Given the description of an element on the screen output the (x, y) to click on. 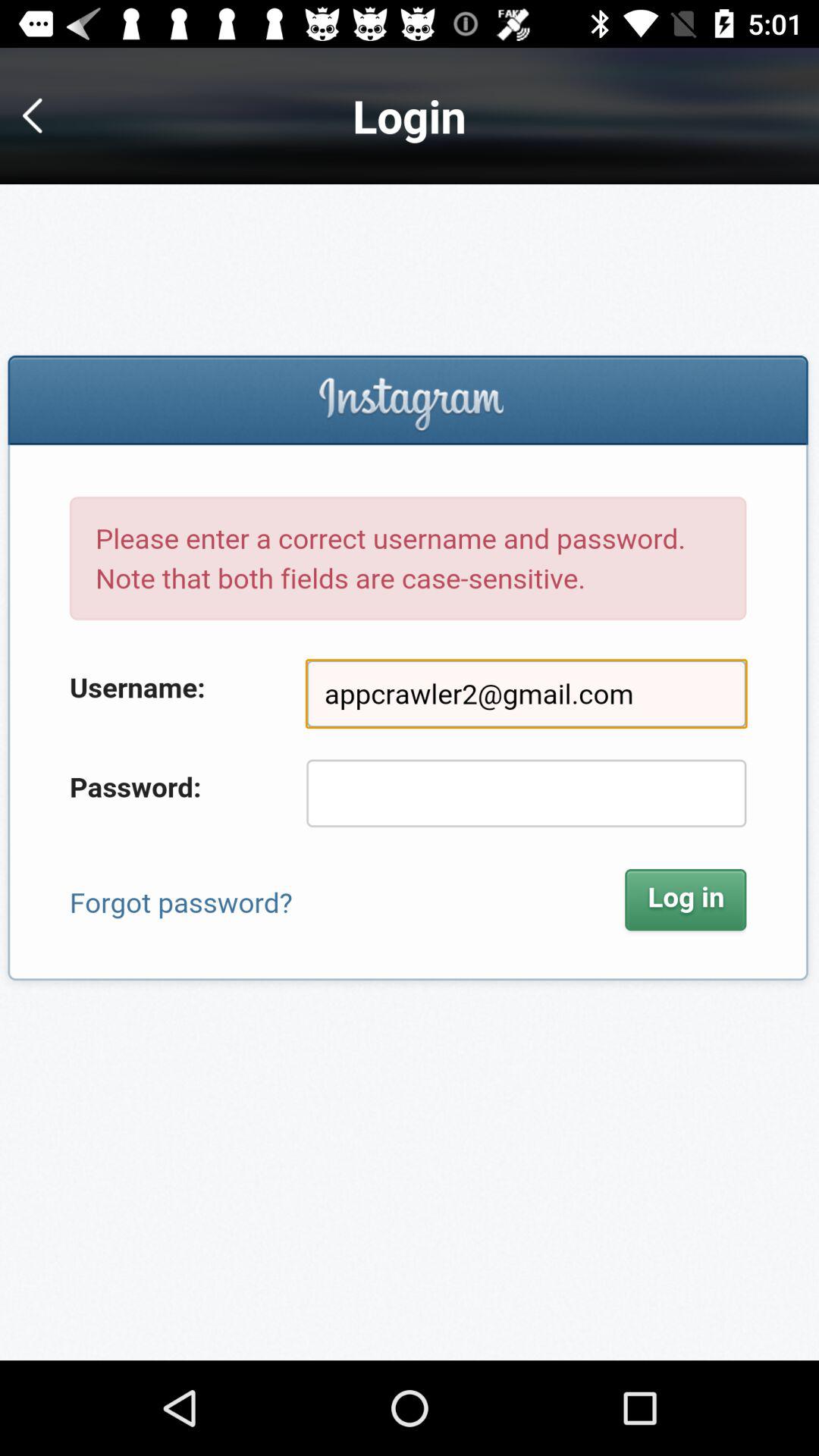
screen page (409, 772)
